Given the description of an element on the screen output the (x, y) to click on. 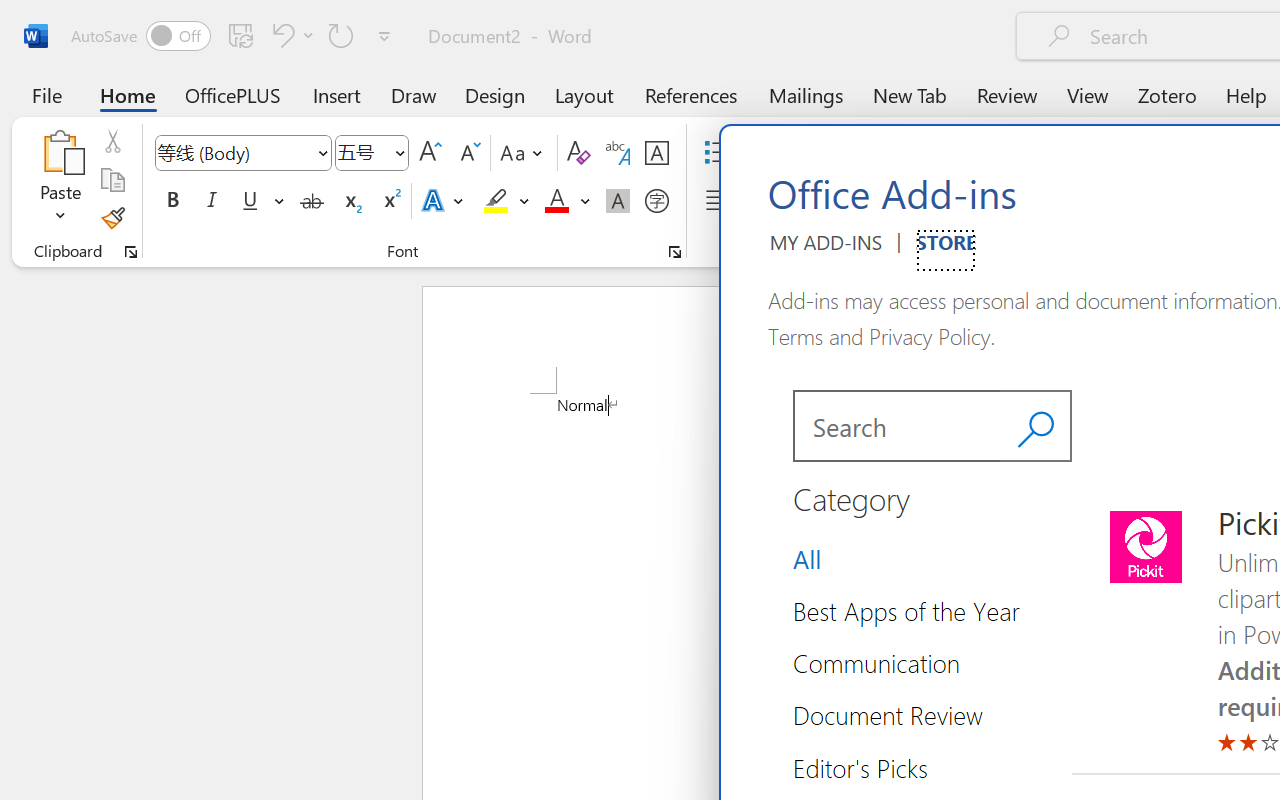
OfficePLUS (233, 94)
Quick Access Toolbar (233, 36)
View (1087, 94)
Cut (112, 141)
Superscript (390, 201)
Enclose Characters... (656, 201)
Font (242, 153)
Phonetic Guide... (618, 153)
Subscript (350, 201)
Change Case (524, 153)
Font Size (372, 153)
Save (241, 35)
Copy (112, 179)
Text Highlight Color Yellow (495, 201)
Category Group Communication 3 of 14 (884, 663)
